Given the description of an element on the screen output the (x, y) to click on. 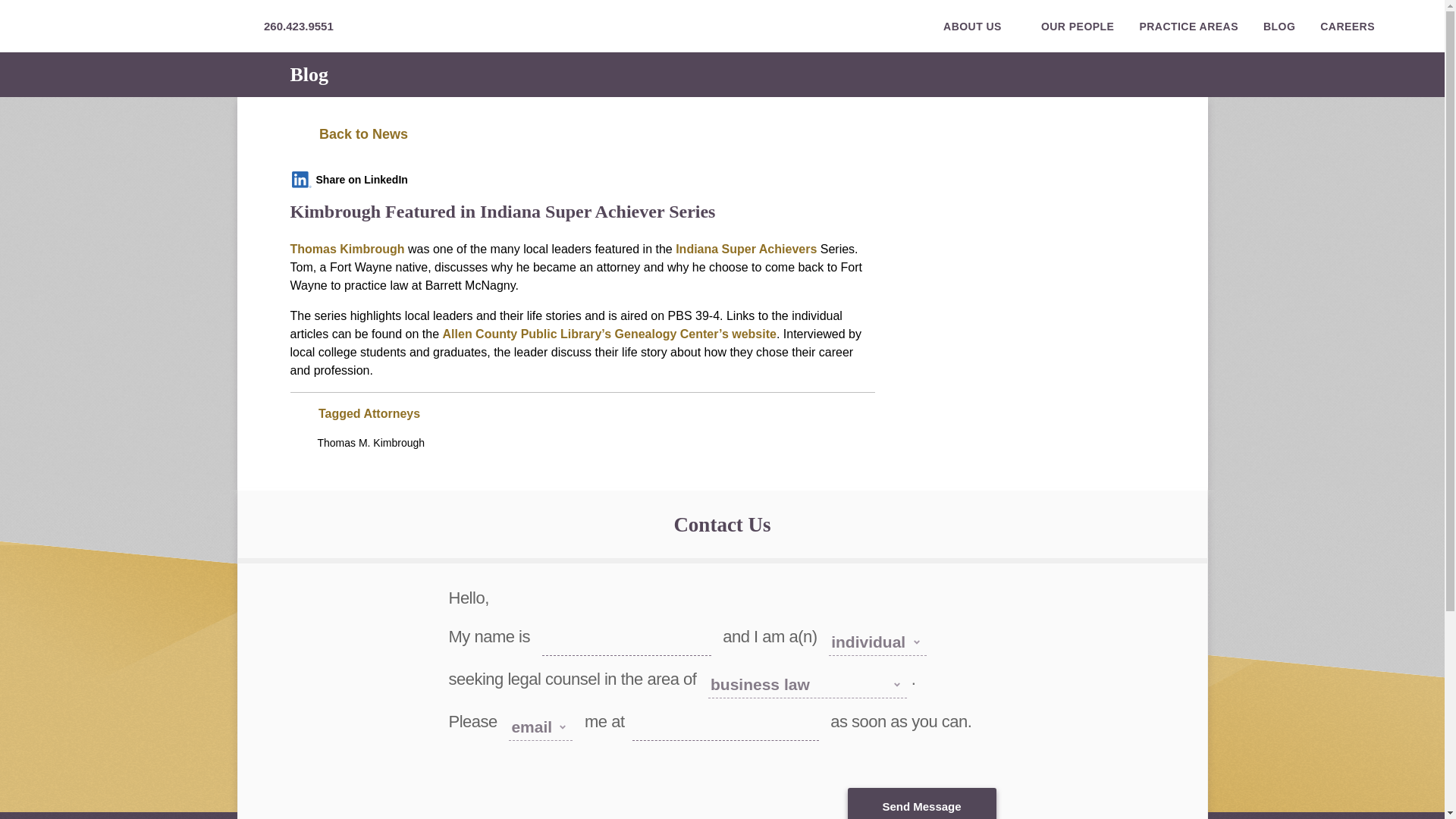
CAREERSDOWN ARROW (1354, 26)
BLOG (1279, 26)
PRACTICE AREAS (1188, 26)
arrow left (298, 135)
OUR PEOPLE (1078, 26)
ABOUT USDOWN ARROW (979, 26)
DOWN ARROW (1011, 26)
tag (297, 414)
DOWN ARROW (1383, 26)
260.423.9551 (298, 26)
